Given the description of an element on the screen output the (x, y) to click on. 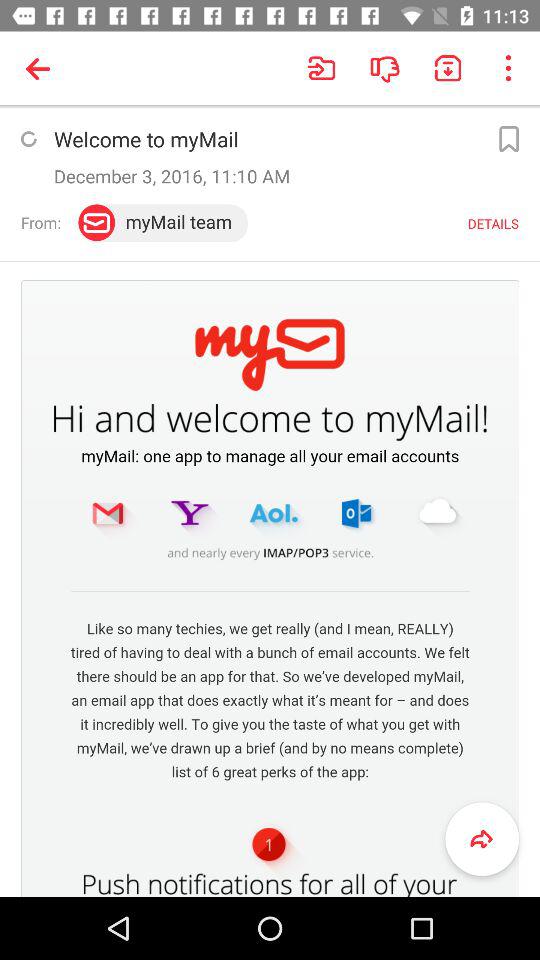
refresh page (28, 139)
